Given the description of an element on the screen output the (x, y) to click on. 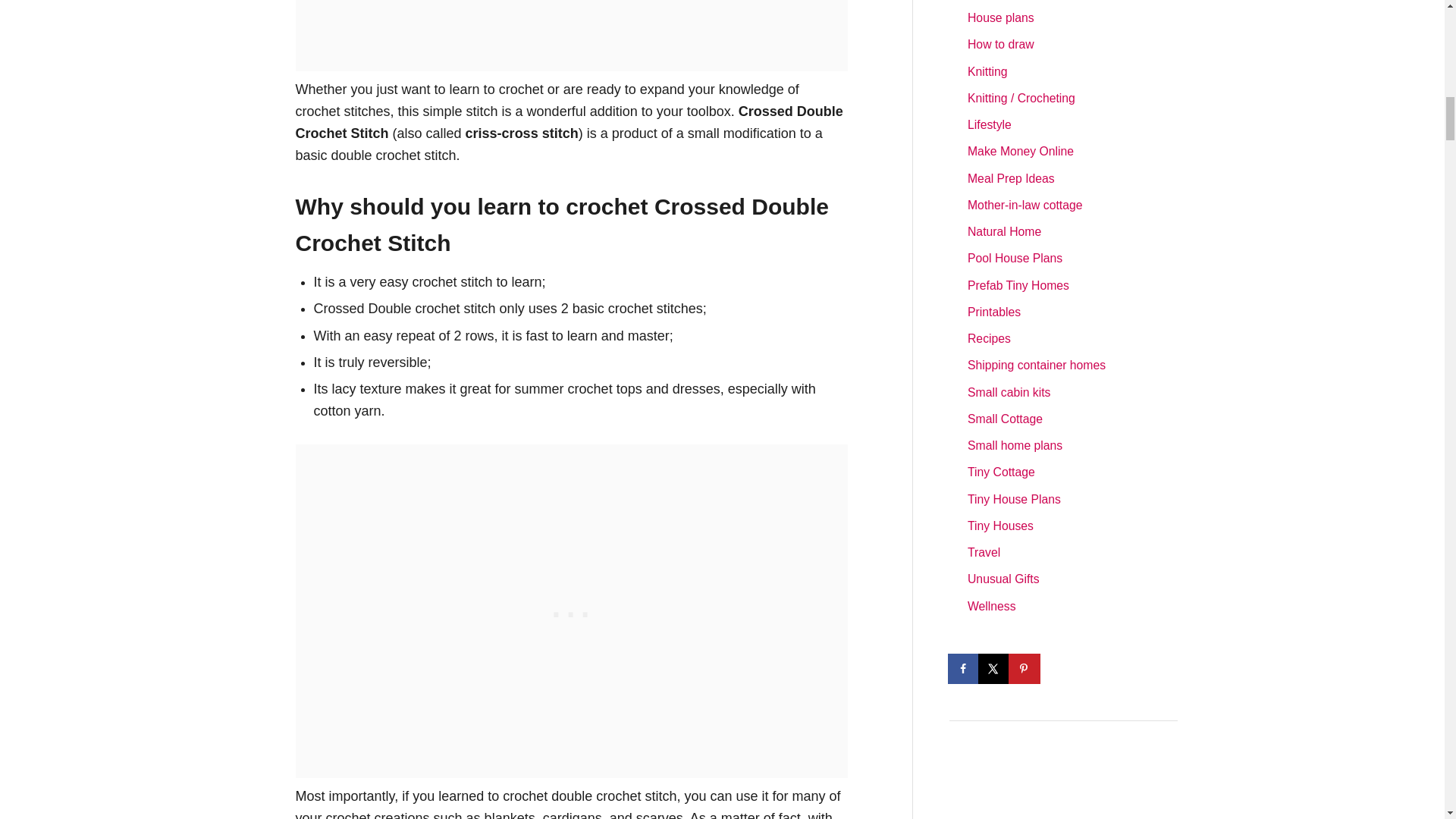
Follow on Pinterest (1025, 668)
Follow on X (994, 668)
Follow on Facebook (964, 668)
